Given the description of an element on the screen output the (x, y) to click on. 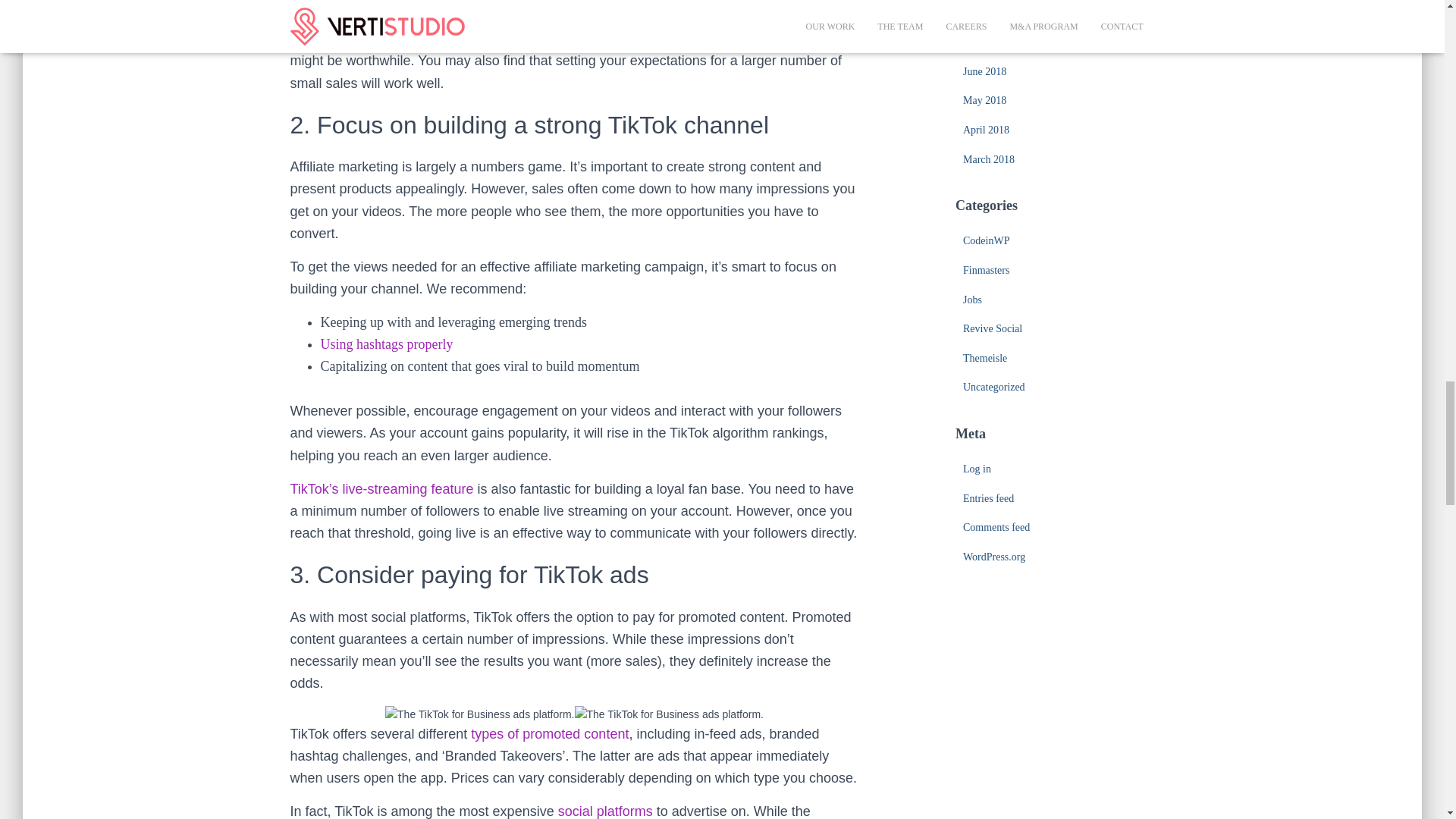
types of promoted content (549, 734)
Using hashtags properly (386, 344)
social platforms (604, 811)
